Given the description of an element on the screen output the (x, y) to click on. 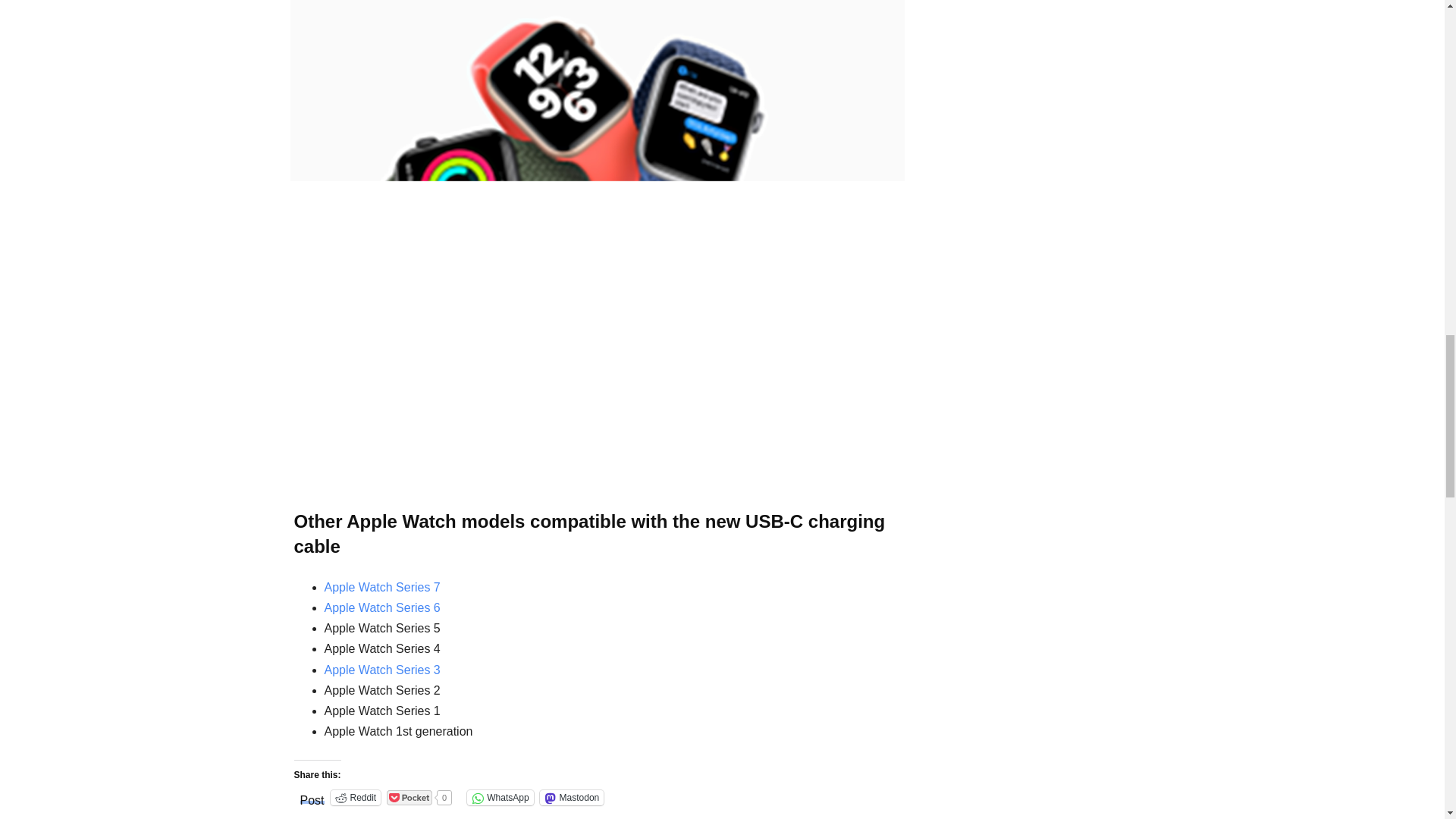
Click to share on Mastodon (572, 797)
Click to share on WhatsApp (499, 797)
Click to share on Reddit (355, 797)
